Given the description of an element on the screen output the (x, y) to click on. 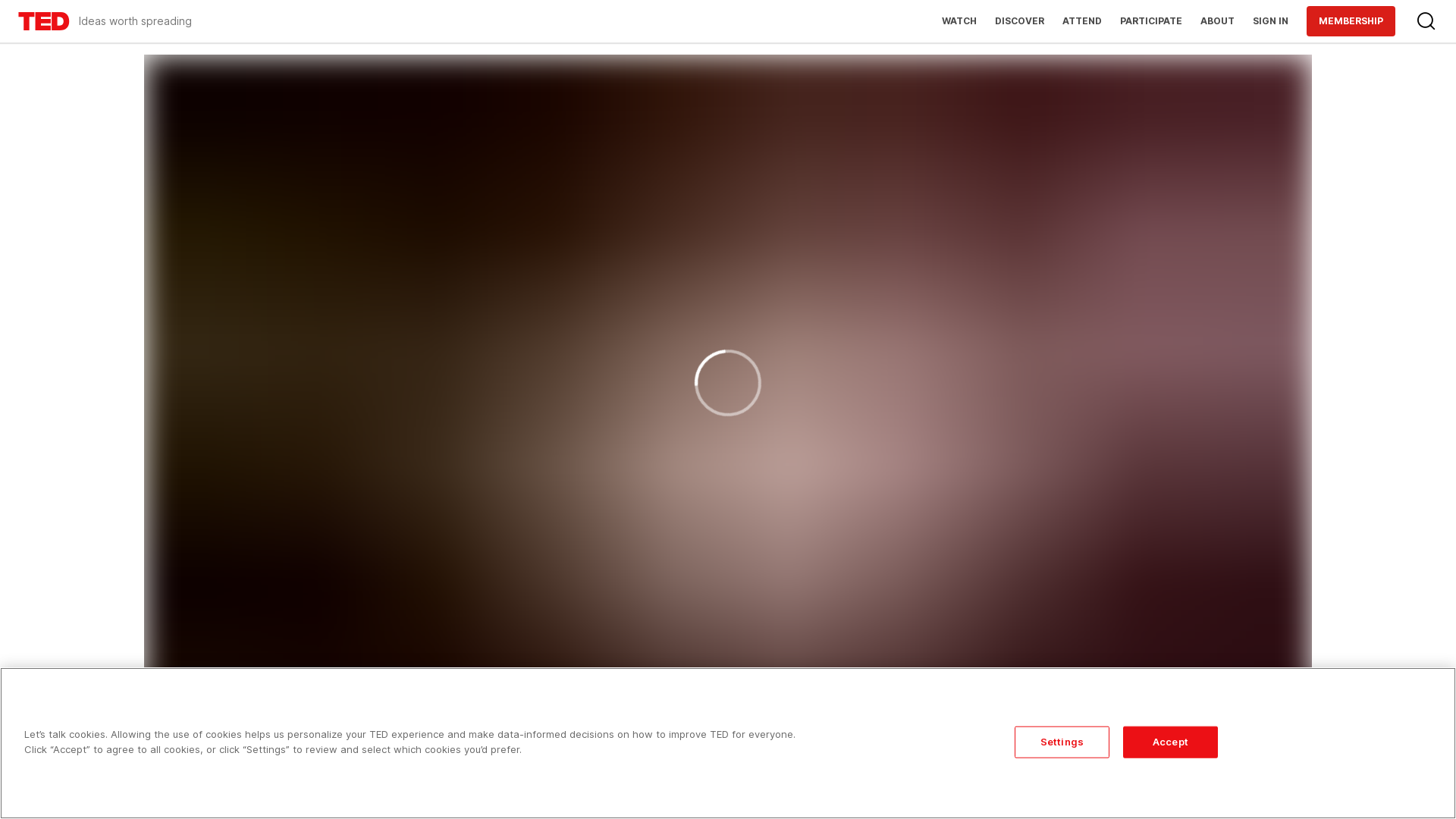
ATTEND Element type: text (1081, 21)
PARTICIPATE Element type: text (1150, 21)
ABOUT Element type: text (1217, 21)
SIGN IN Element type: text (1270, 21)
Read transcript Element type: text (1260, 795)
WATCH Element type: text (958, 21)
Ideas worth spreading Element type: text (104, 21)
Accept Element type: text (1170, 742)
DISCOVER Element type: text (1019, 21)
MEMBERSHIP Element type: text (1350, 21)
Settings Element type: text (1061, 742)
